Given the description of an element on the screen output the (x, y) to click on. 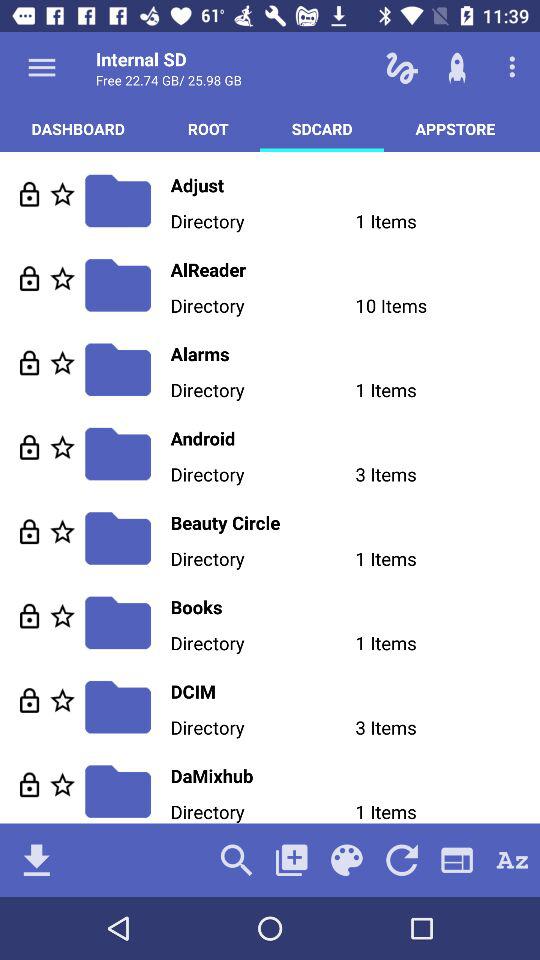
download (36, 860)
